Given the description of an element on the screen output the (x, y) to click on. 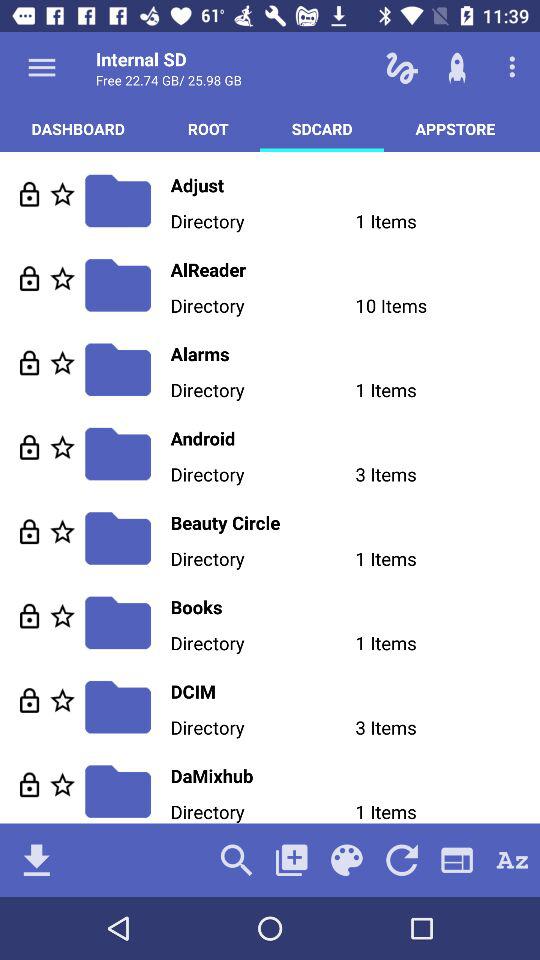
download (36, 860)
